Given the description of an element on the screen output the (x, y) to click on. 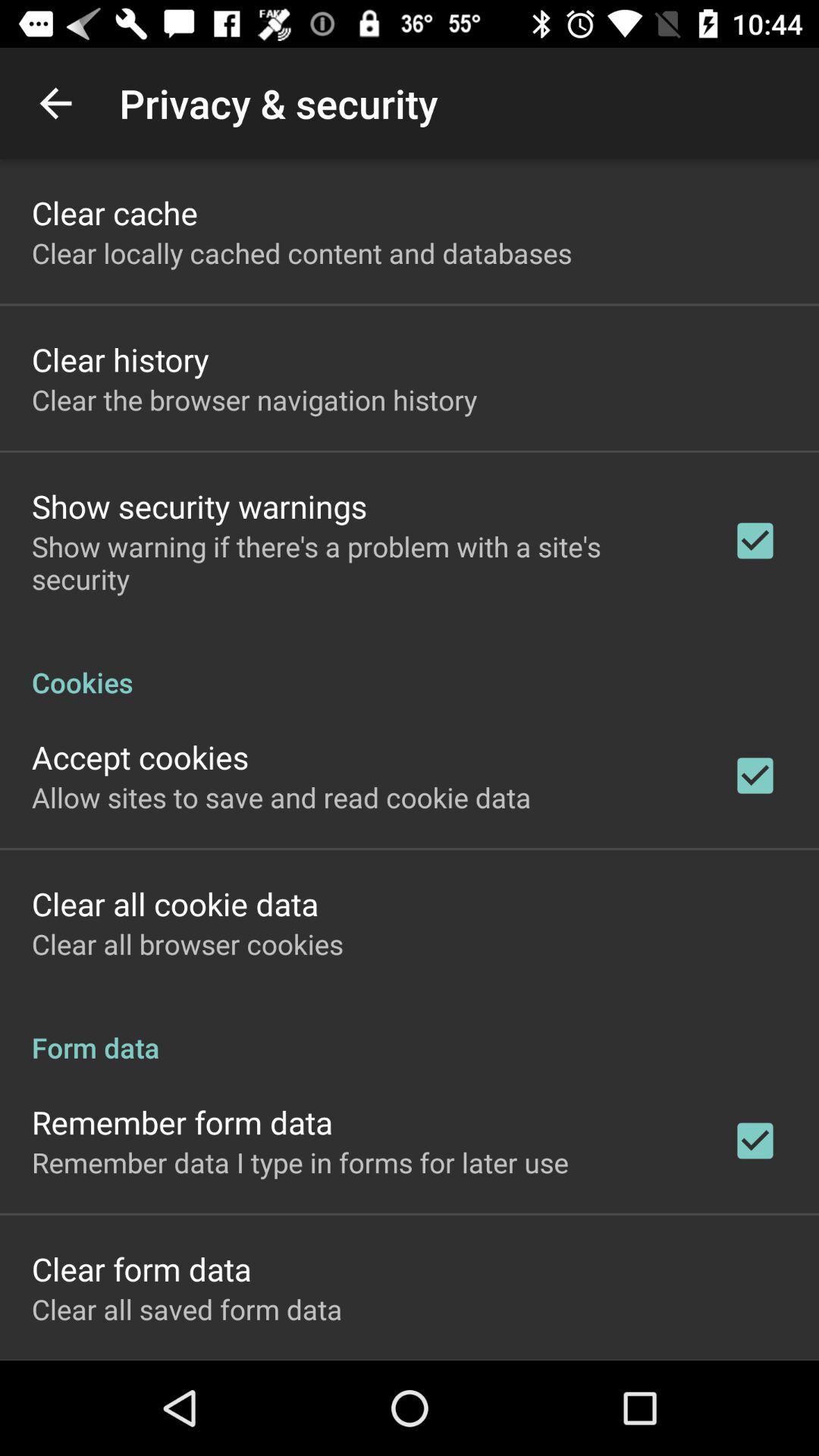
swipe until clear cache app (114, 212)
